Given the description of an element on the screen output the (x, y) to click on. 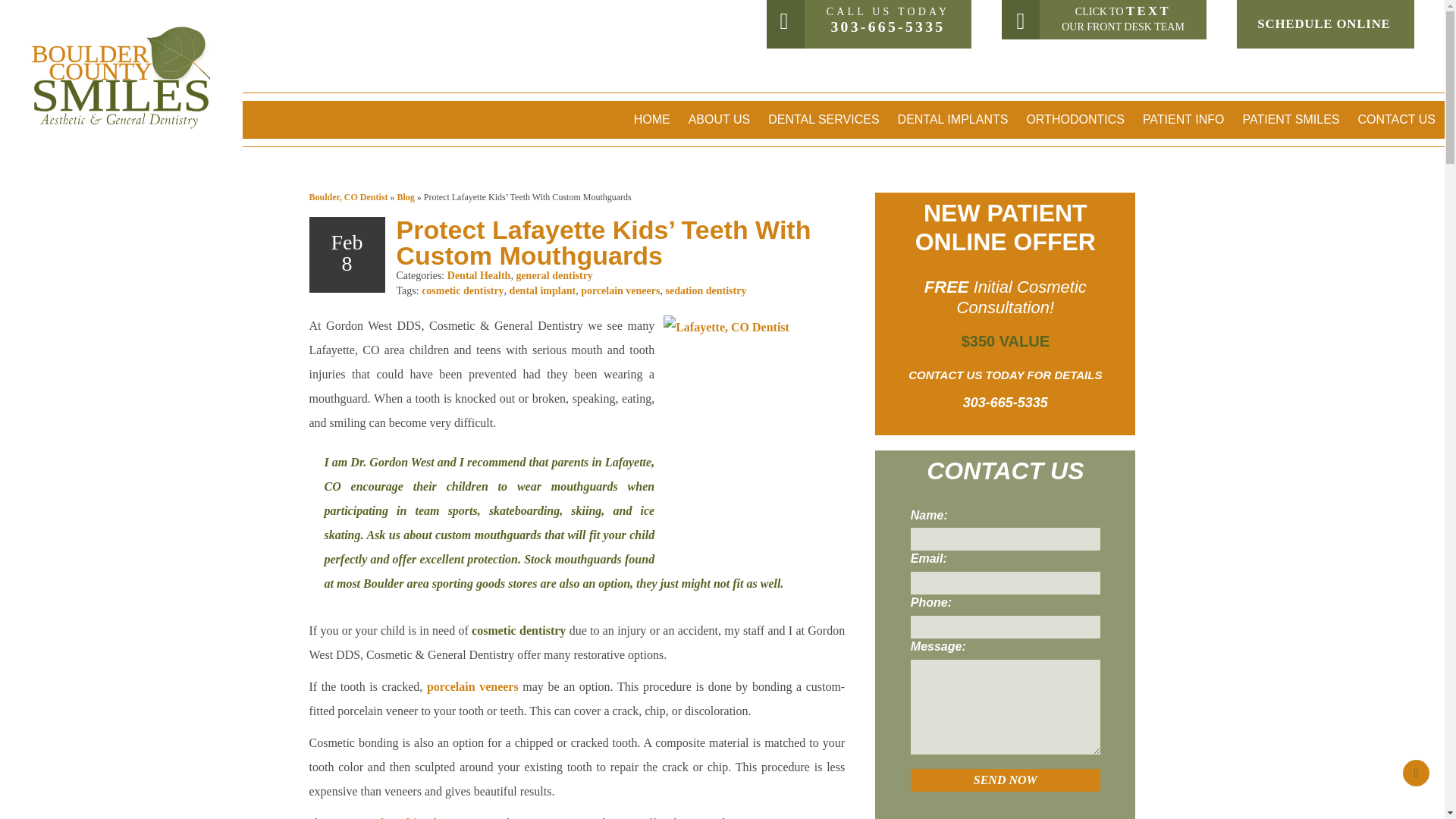
HOME (651, 119)
ABOUT US (719, 119)
SCHEDULE ONLINE (1323, 24)
DENTAL SERVICES (823, 119)
cosmetic dentistry Lafayette, CO (518, 630)
porcelain veneers Lafayette, CO (472, 686)
Send Now (1005, 780)
303-665-5335 (886, 26)
dental implant Lafayette, CO (414, 817)
